Given the description of an element on the screen output the (x, y) to click on. 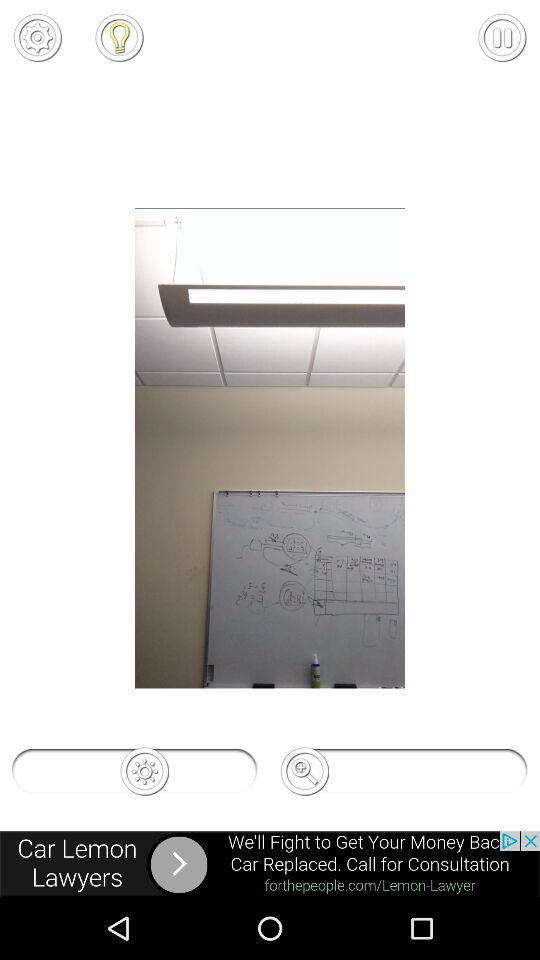
pause option (502, 37)
